Given the description of an element on the screen output the (x, y) to click on. 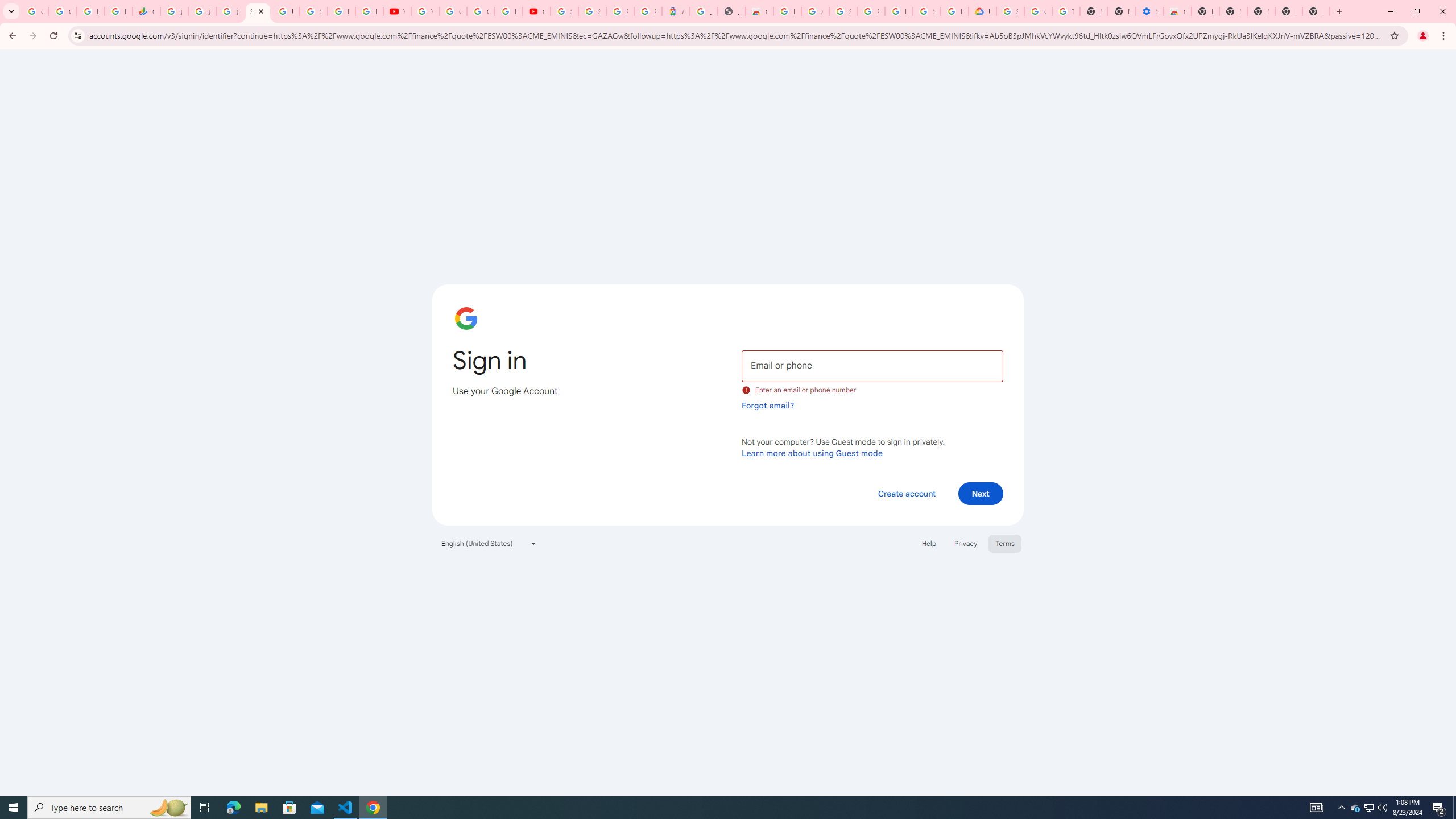
Forgot email? (767, 404)
Learn more about using Guest mode (812, 452)
Google Account Help (1038, 11)
Create your Google Account (480, 11)
Ad Settings (815, 11)
